Given the description of an element on the screen output the (x, y) to click on. 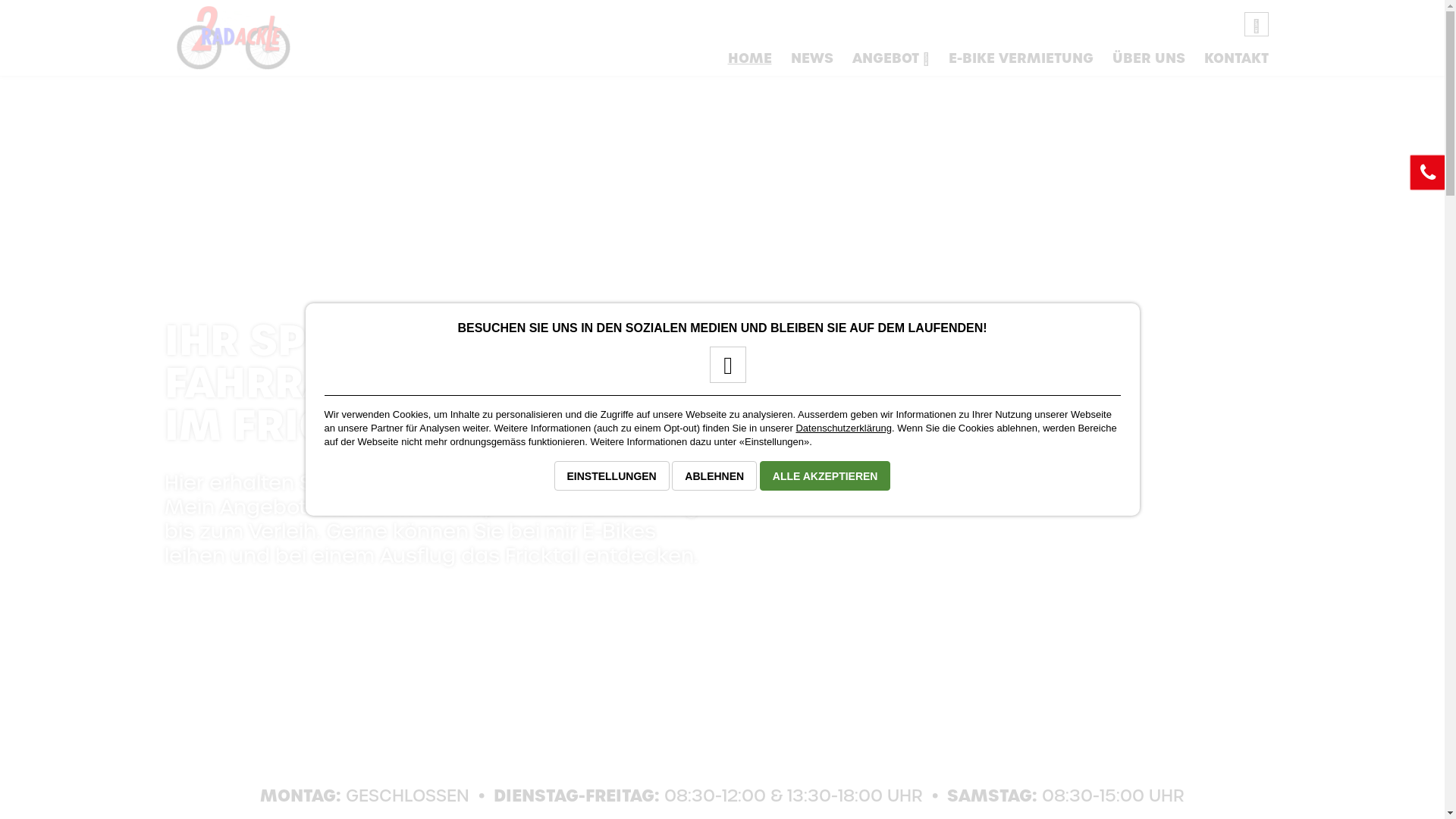
HOME Element type: text (749, 63)
Facebook-Seite von 2-Rad Ackle Element type: hover (722, 370)
NEWS Element type: text (811, 63)
E-BIKE VERMIETUNG Element type: text (1019, 63)
KONTAKT Element type: text (1236, 63)
